Given the description of an element on the screen output the (x, y) to click on. 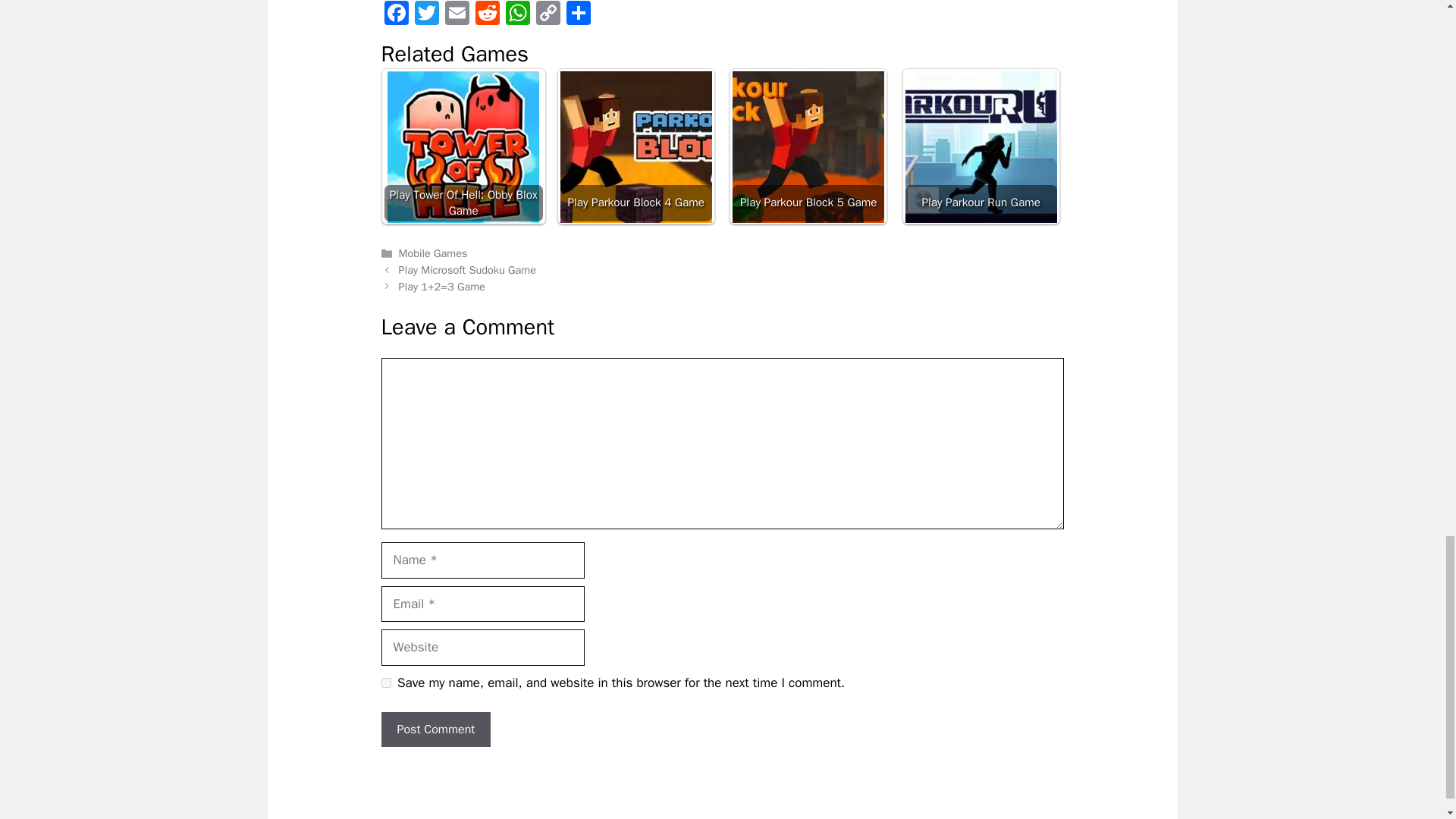
Play Parkour Block 4 Game (635, 146)
Email (456, 14)
Play Tower Of Hell: Obby Blox Game (462, 146)
Mobile Games (432, 253)
Contact me (1118, 817)
Post Comment (435, 728)
Privacy Policy (1042, 817)
Play Parkour Block 4 Game (635, 145)
Email (456, 14)
Play Parkour Run Game (980, 145)
WhatsApp (517, 14)
Copy Link (547, 14)
Facebook (395, 14)
Reddit (486, 14)
Play Parkour Block 5 Game (807, 146)
